Given the description of an element on the screen output the (x, y) to click on. 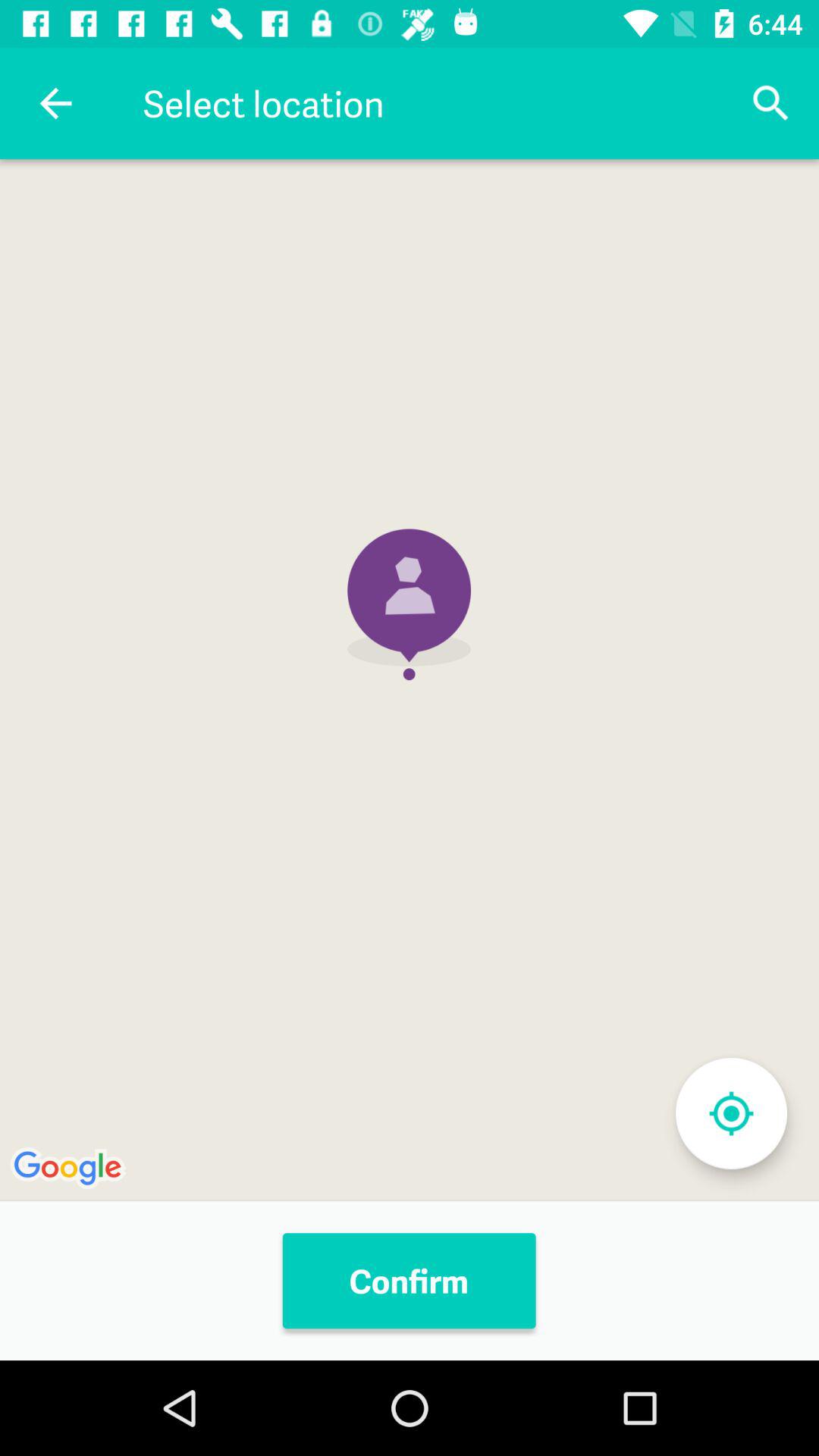
turn on icon to the right of select location icon (771, 103)
